Given the description of an element on the screen output the (x, y) to click on. 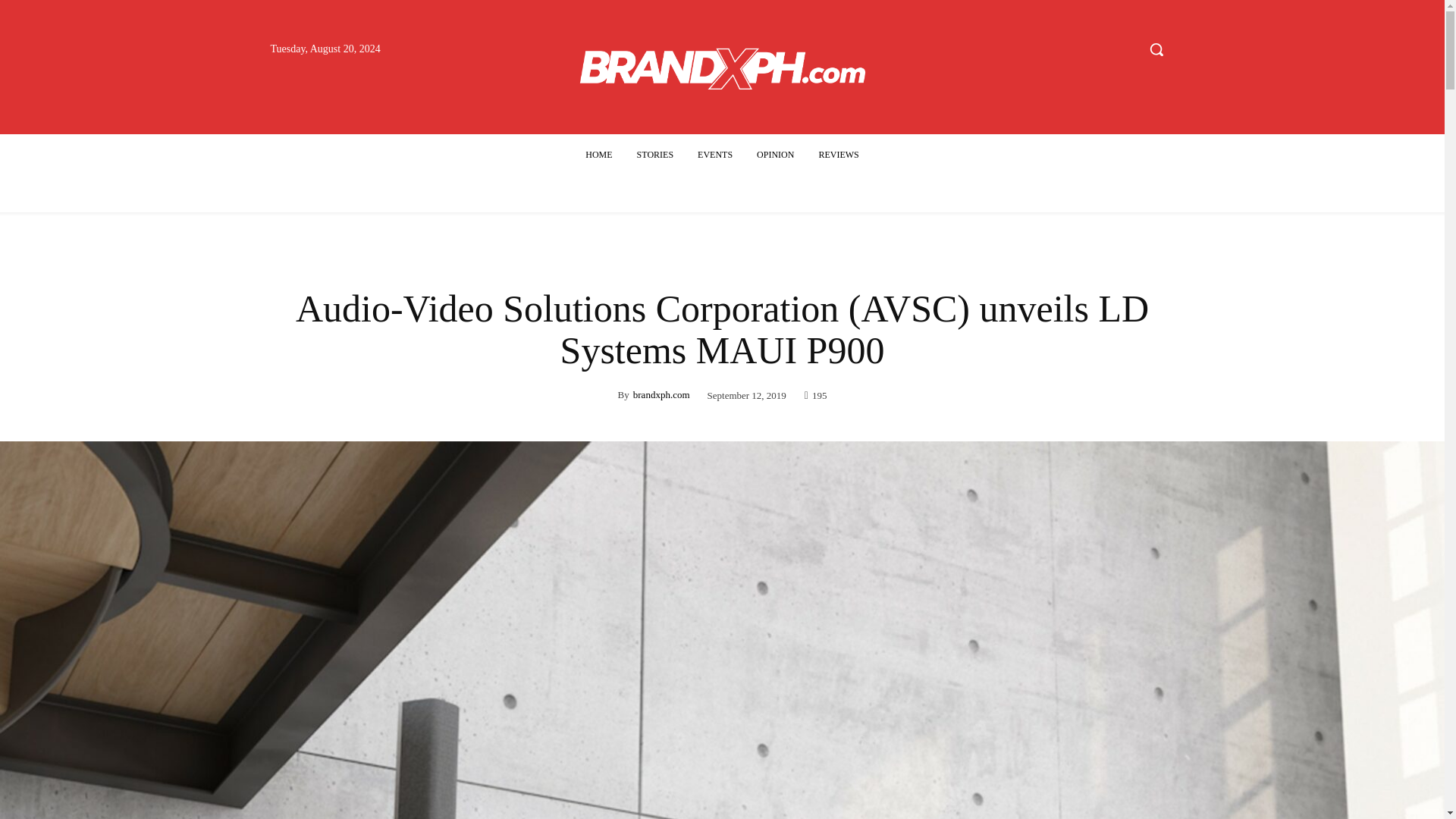
REVIEWS (838, 155)
STORIES (654, 155)
OPINION (775, 155)
brandxph.com (661, 394)
HOME (598, 155)
EVENTS (714, 155)
